Given the description of an element on the screen output the (x, y) to click on. 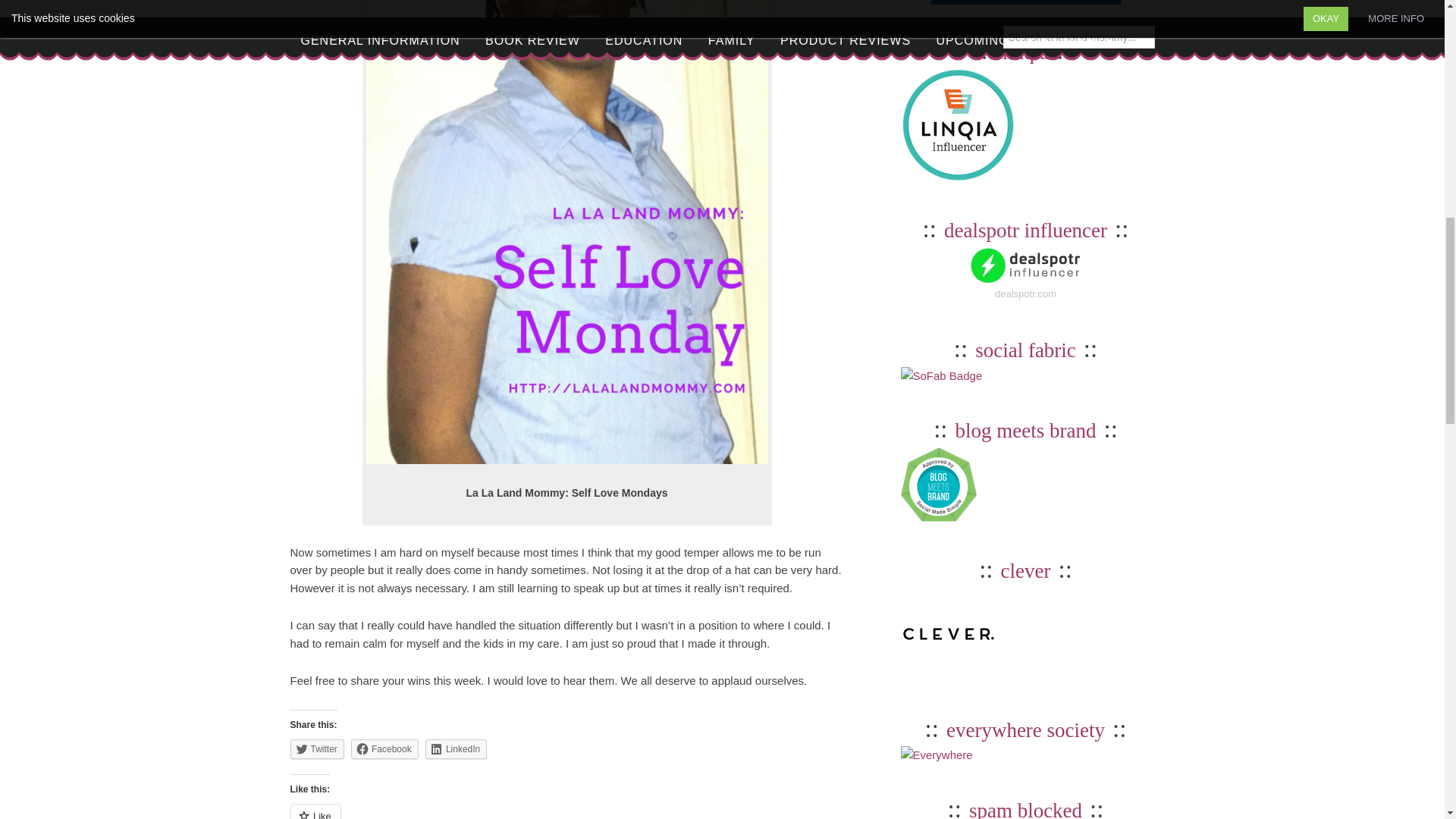
Like or Reblog (566, 811)
Click to share on LinkedIn (455, 749)
LinkedIn (455, 749)
Twitter (316, 749)
Click to share on Twitter (316, 749)
Facebook (384, 749)
Click to share on Facebook (384, 749)
